Given the description of an element on the screen output the (x, y) to click on. 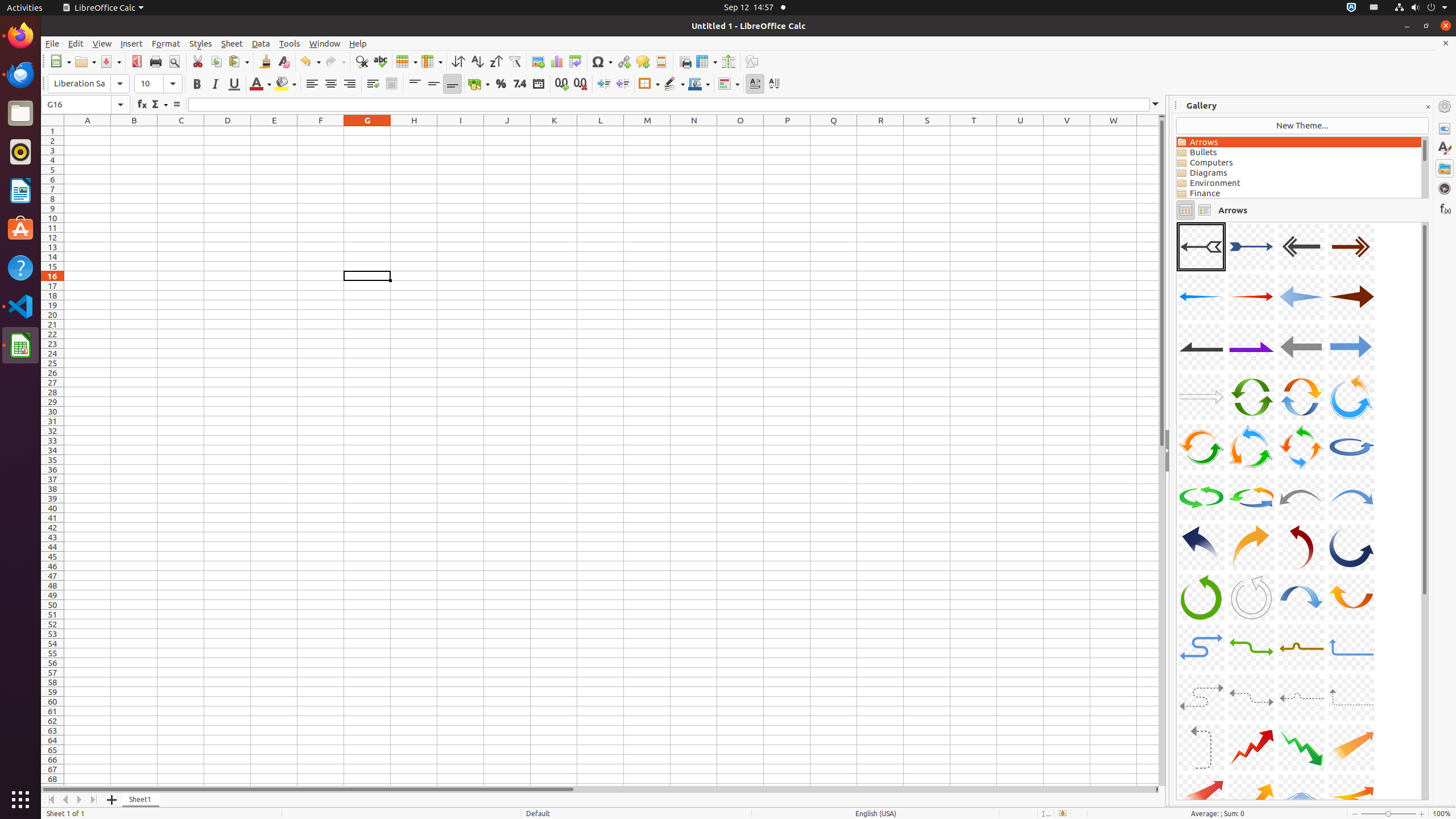
Align Center Element type: push-button (330, 83)
Sheet Element type: menu (231, 43)
Vertical scroll bar Element type: scroll-bar (1161, 451)
Hyperlink Element type: toggle-button (623, 61)
A25-CurvedArrow-DarkBlue Element type: list-item (1200, 546)
